Given the description of an element on the screen output the (x, y) to click on. 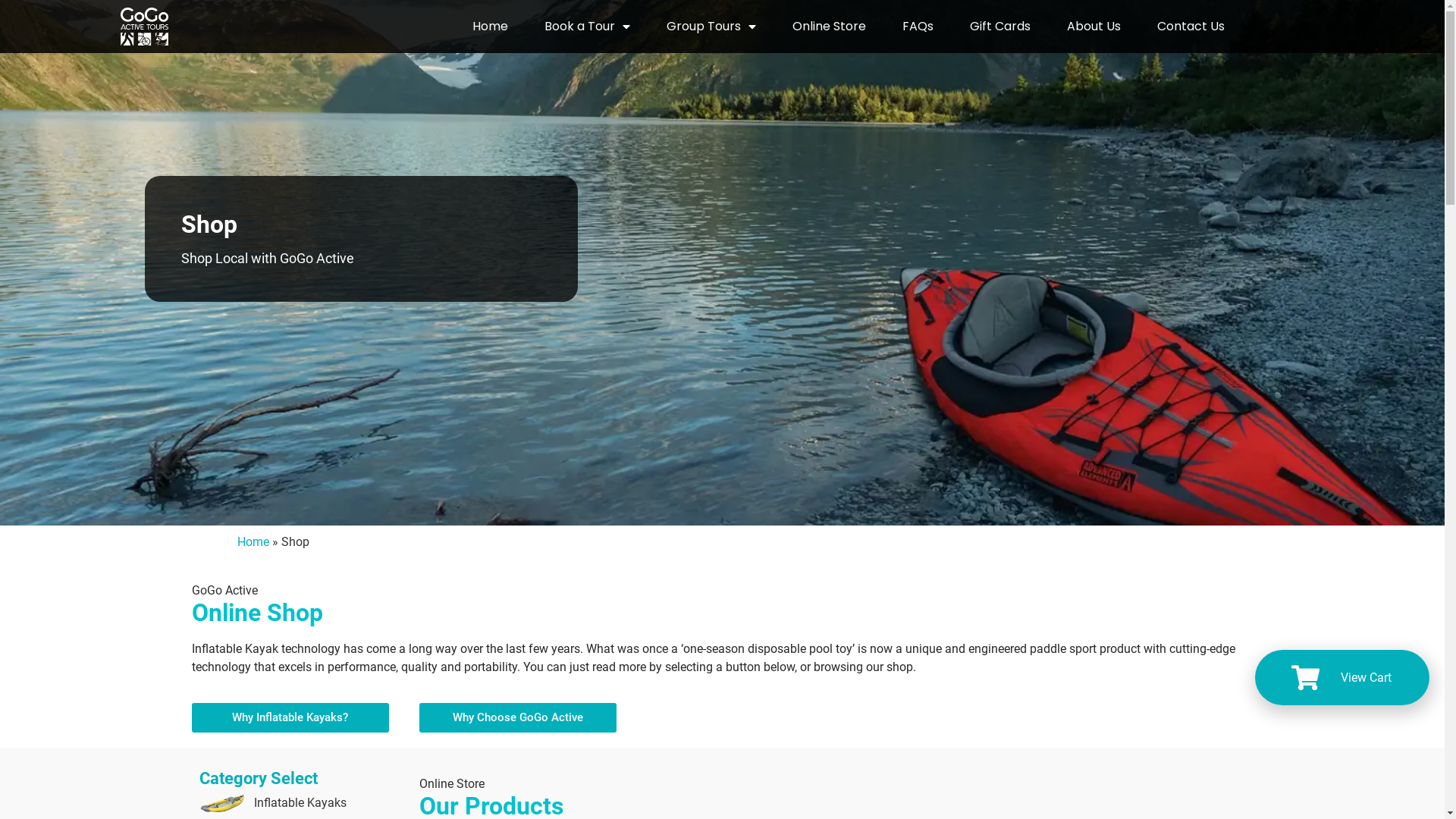
FAQs Element type: text (917, 26)
Book a Tour Element type: text (586, 26)
Group Tours Element type: text (710, 26)
Home Element type: text (489, 26)
Gift Cards Element type: text (1000, 26)
Why Inflatable Kayaks? Element type: text (289, 717)
Contact Us Element type: text (1190, 26)
About Us Element type: text (1093, 26)
Home Element type: text (252, 541)
Why Choose GoGo Active Element type: text (516, 717)
Online Store Element type: text (828, 26)
